Given the description of an element on the screen output the (x, y) to click on. 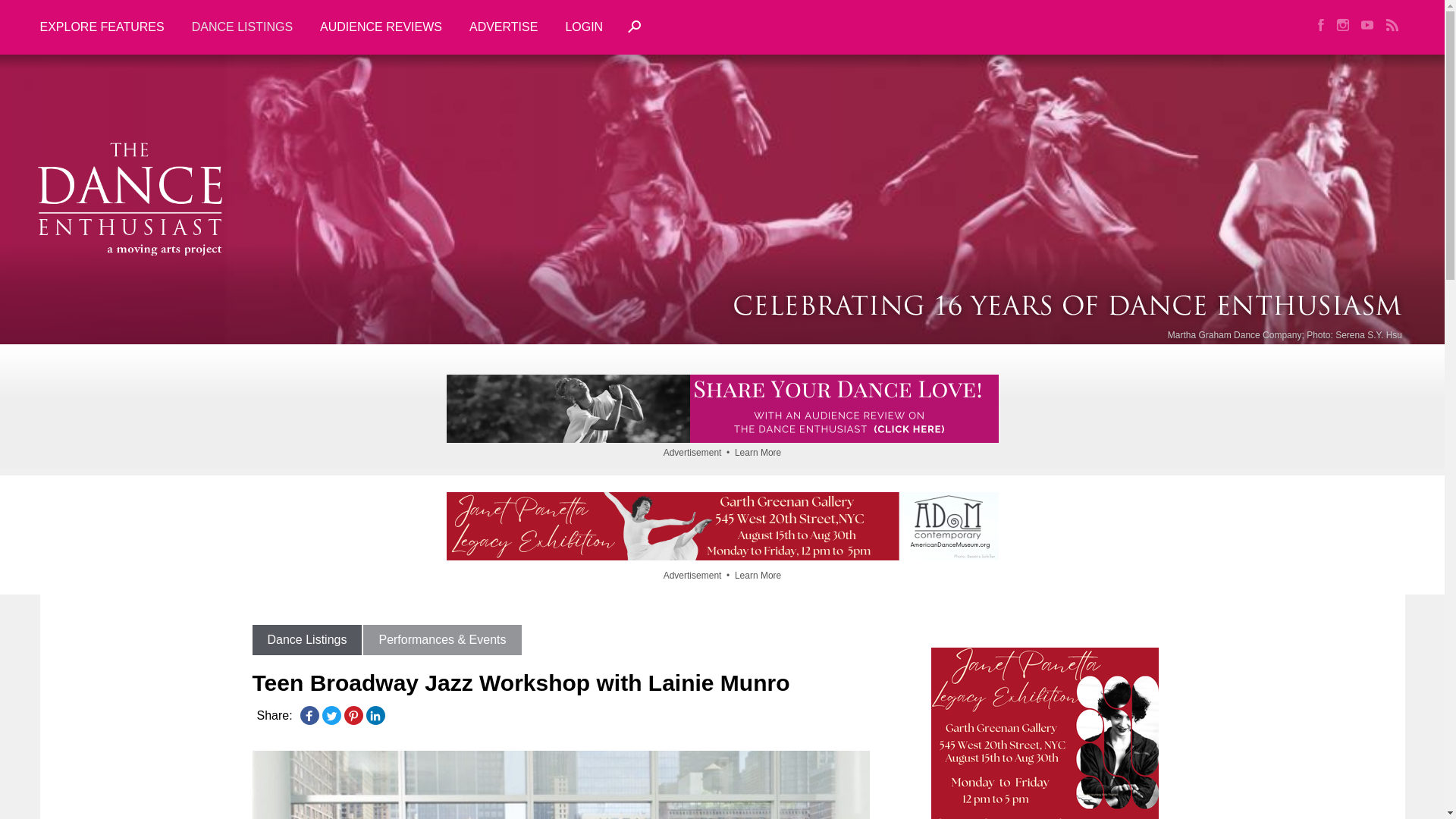
Pinterest (353, 715)
Twitter (331, 715)
EXPLORE FEATURES (108, 27)
ADVERTISE (503, 27)
LinkedIn (375, 715)
AUDIENCE REVIEWS (380, 27)
Facebook (309, 715)
LOGIN (583, 27)
DANCE LISTINGS (241, 27)
